Given the description of an element on the screen output the (x, y) to click on. 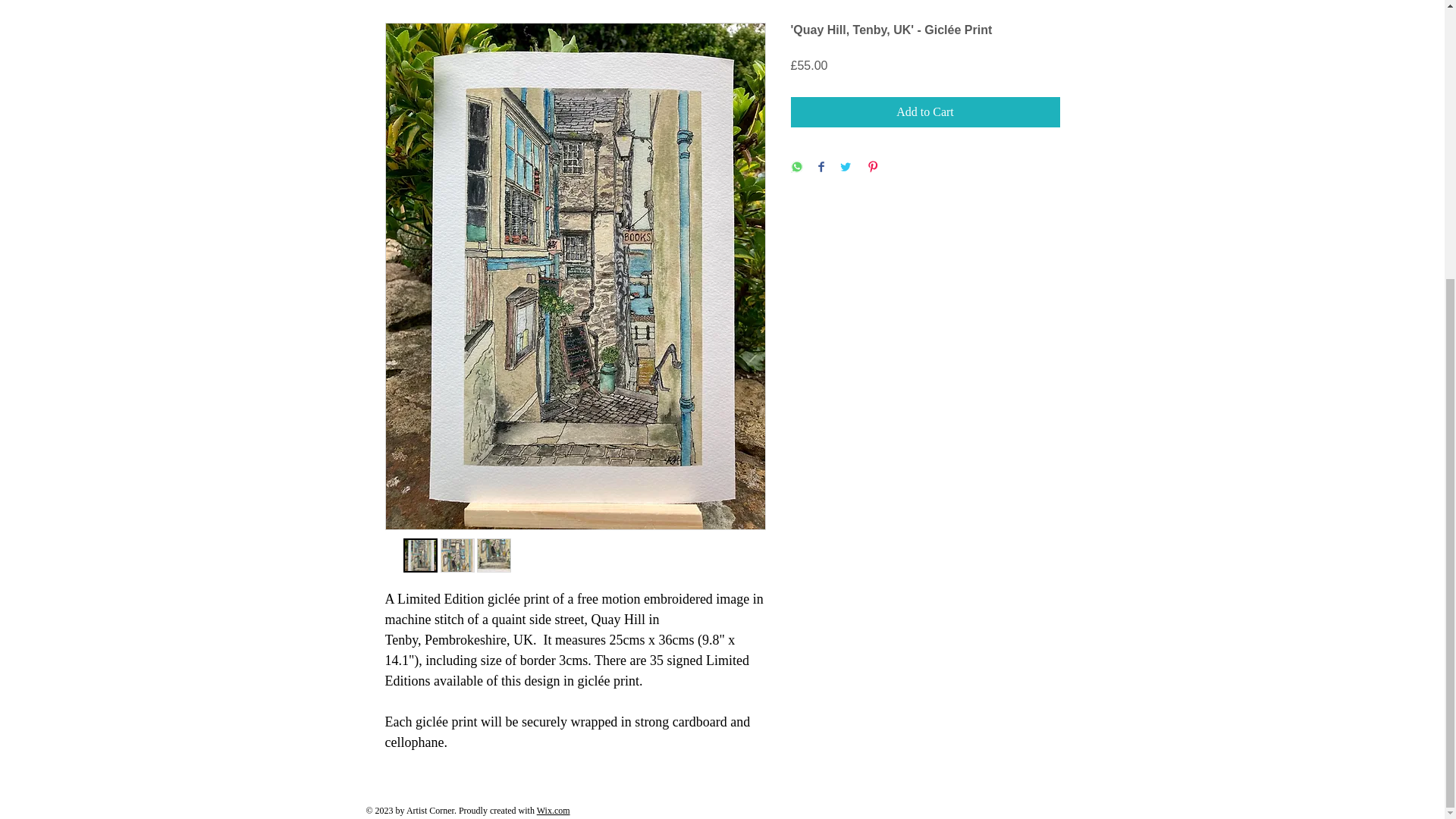
Add to Cart (924, 112)
Wix.com (553, 810)
